Given the description of an element on the screen output the (x, y) to click on. 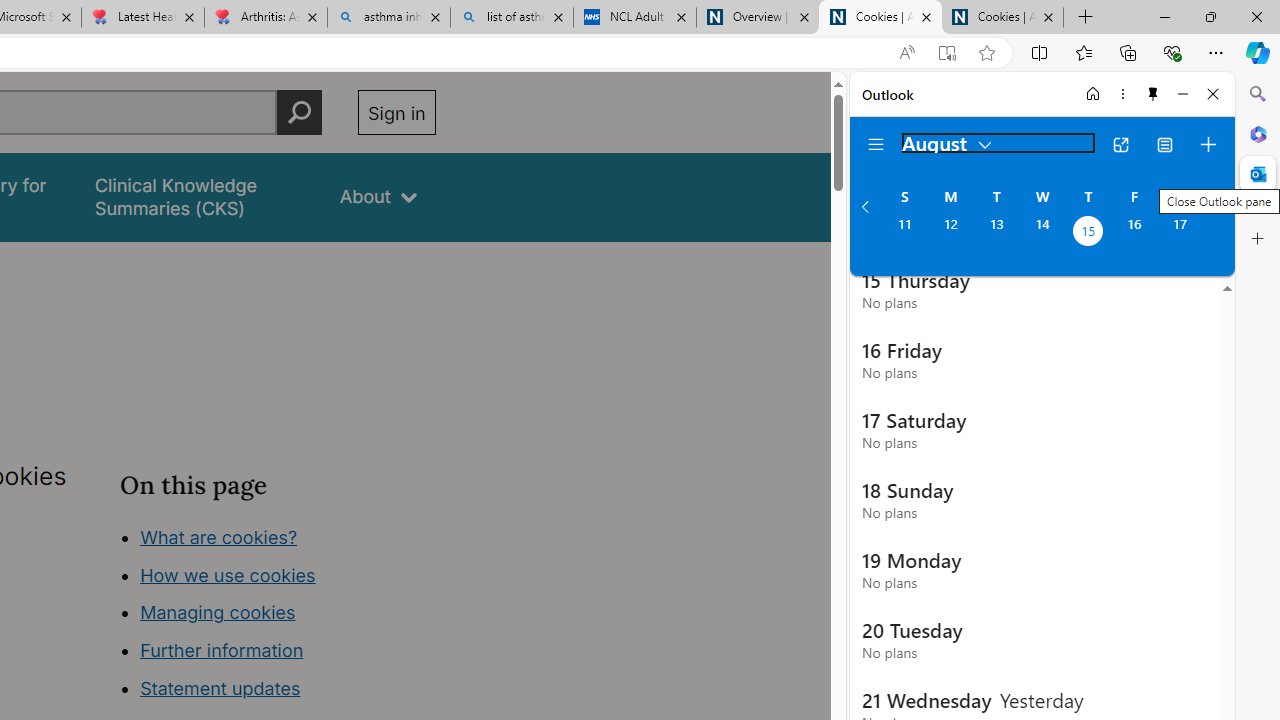
Enter Immersive Reader (F9) (946, 53)
Open in new tab (1120, 144)
Further information (221, 650)
Tuesday, August 13, 2024.  (996, 233)
Managing cookies (217, 612)
list of asthma inhalers uk - Search (511, 17)
Close Customize pane (1258, 239)
Friday, August 16, 2024.  (1134, 233)
Sunday, August 11, 2024.  (904, 233)
